Given the description of an element on the screen output the (x, y) to click on. 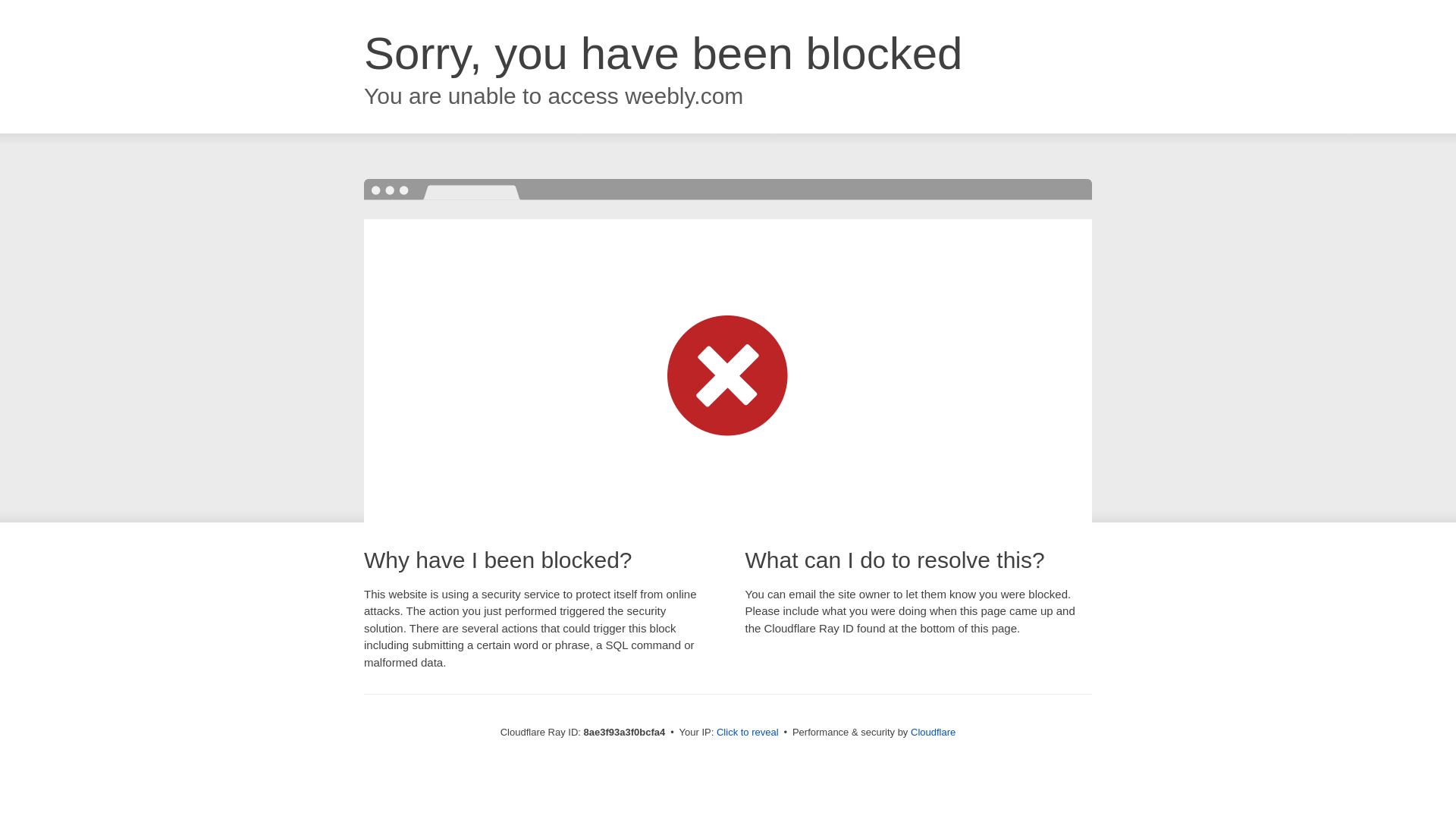
Cloudflare (933, 731)
Click to reveal (747, 732)
